Given the description of an element on the screen output the (x, y) to click on. 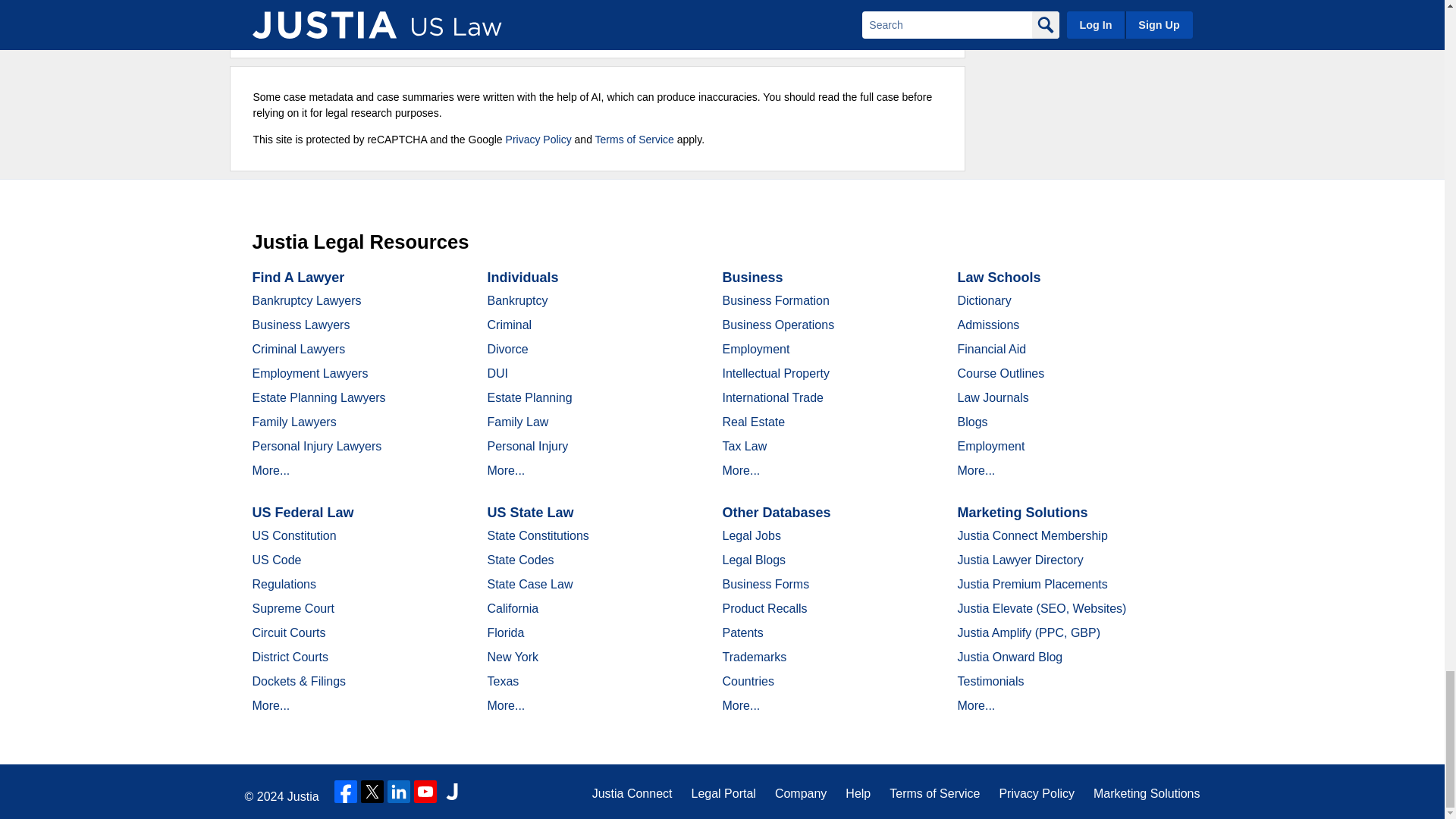
Twitter (372, 791)
Terms of Service (634, 139)
LinkedIn (398, 791)
Facebook (345, 791)
Privacy Policy (538, 139)
